Given the description of an element on the screen output the (x, y) to click on. 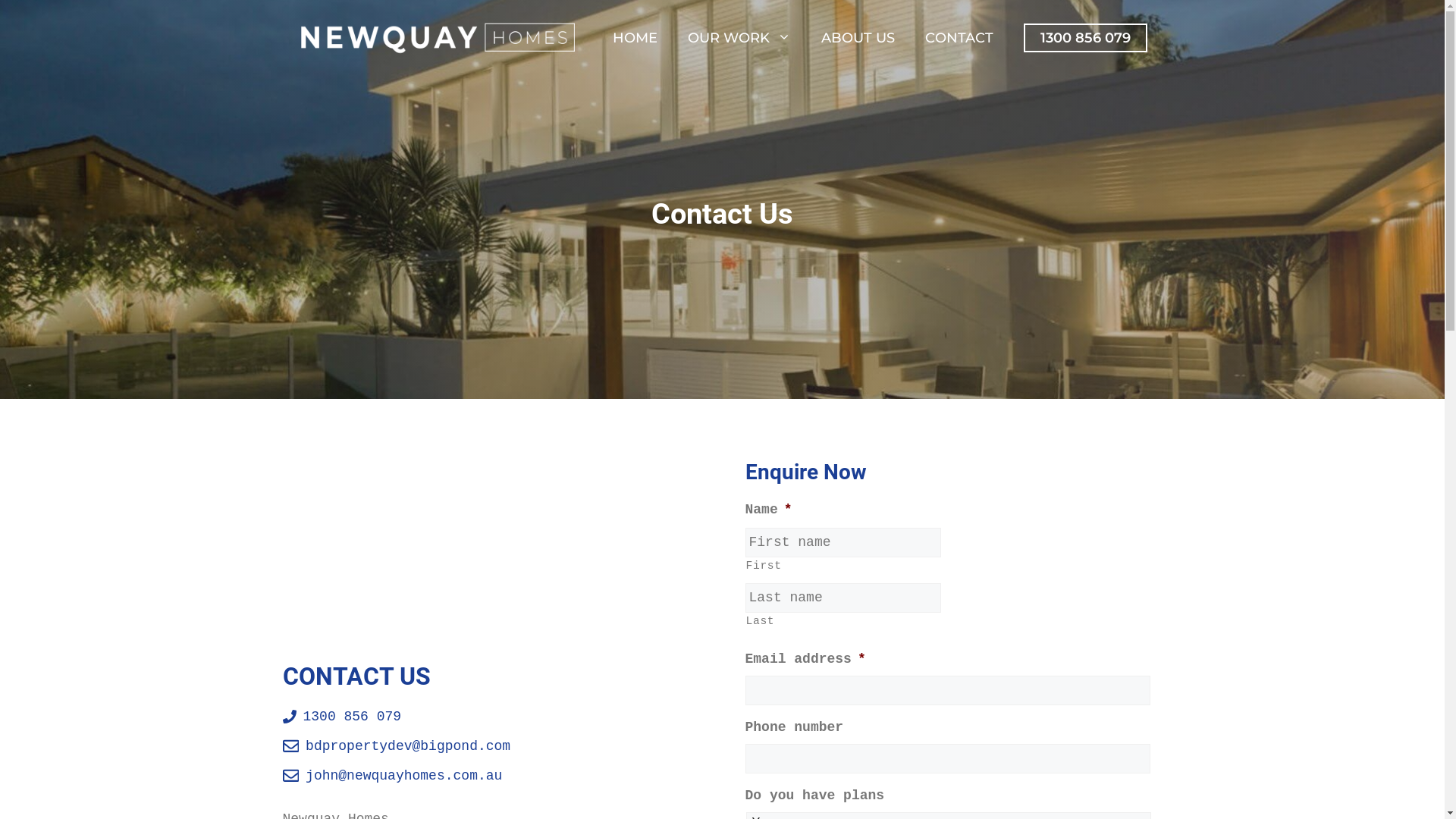
ABOUT US Element type: text (857, 37)
bdpropertydev@bigpond.com Element type: text (407, 745)
OUR WORK Element type: text (738, 37)
CONTACT Element type: text (959, 37)
1300 856 079 Element type: text (1085, 37)
1300 856 079 Element type: text (352, 716)
john@newquayhomes.com.au Element type: text (403, 775)
HOME Element type: text (634, 37)
